Given the description of an element on the screen output the (x, y) to click on. 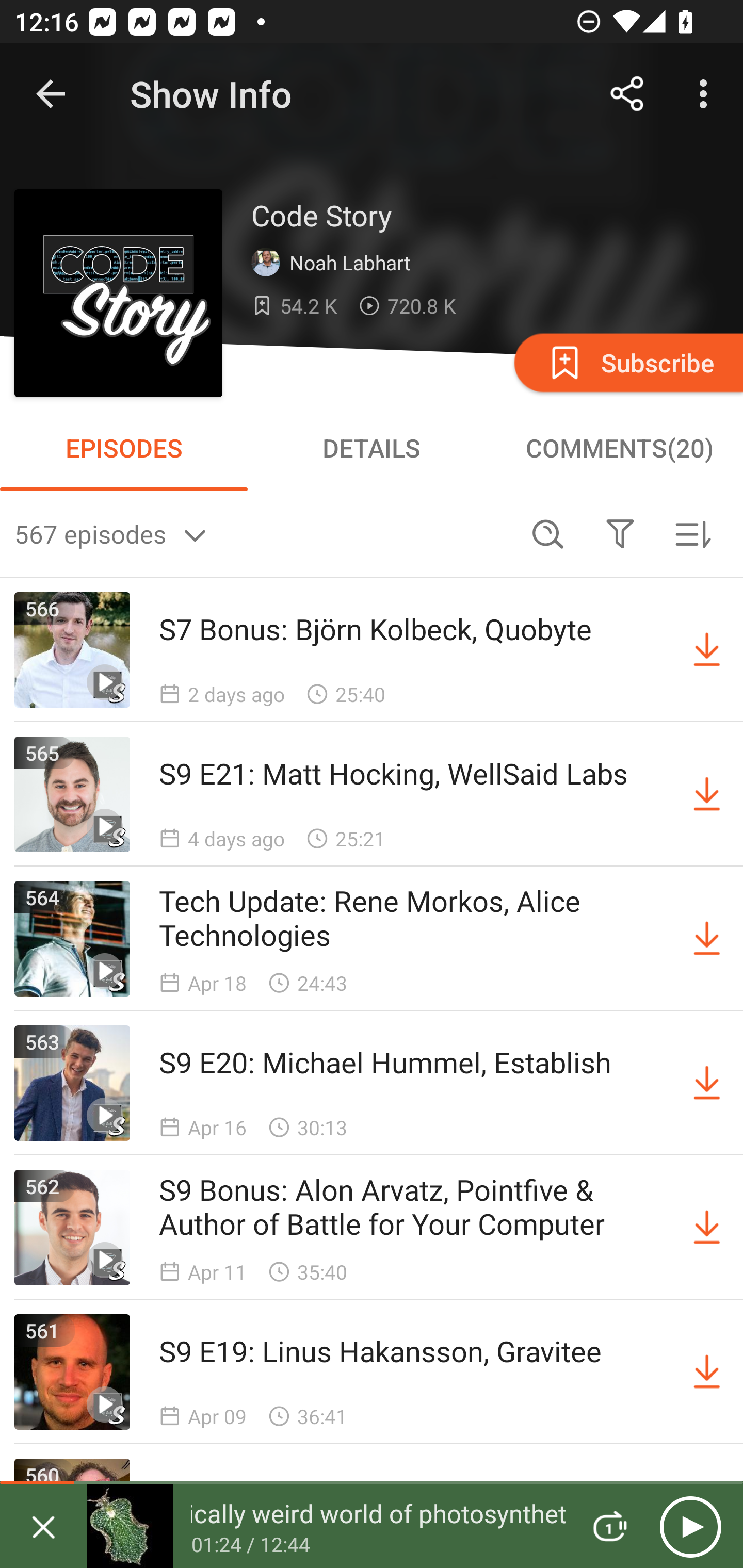
Navigate up (50, 93)
Share (626, 93)
More options (706, 93)
Noah Labhart (335, 262)
Subscribe (627, 361)
EPISODES (123, 447)
DETAILS (371, 447)
COMMENTS(20) (619, 447)
567 episodes  (262, 533)
 Search (547, 533)
 (619, 533)
 Sorted by newest first (692, 533)
Download (706, 649)
Download (706, 793)
Download (706, 939)
Download (706, 1083)
Download (706, 1227)
Download (706, 1371)
Play (690, 1526)
